Given the description of an element on the screen output the (x, y) to click on. 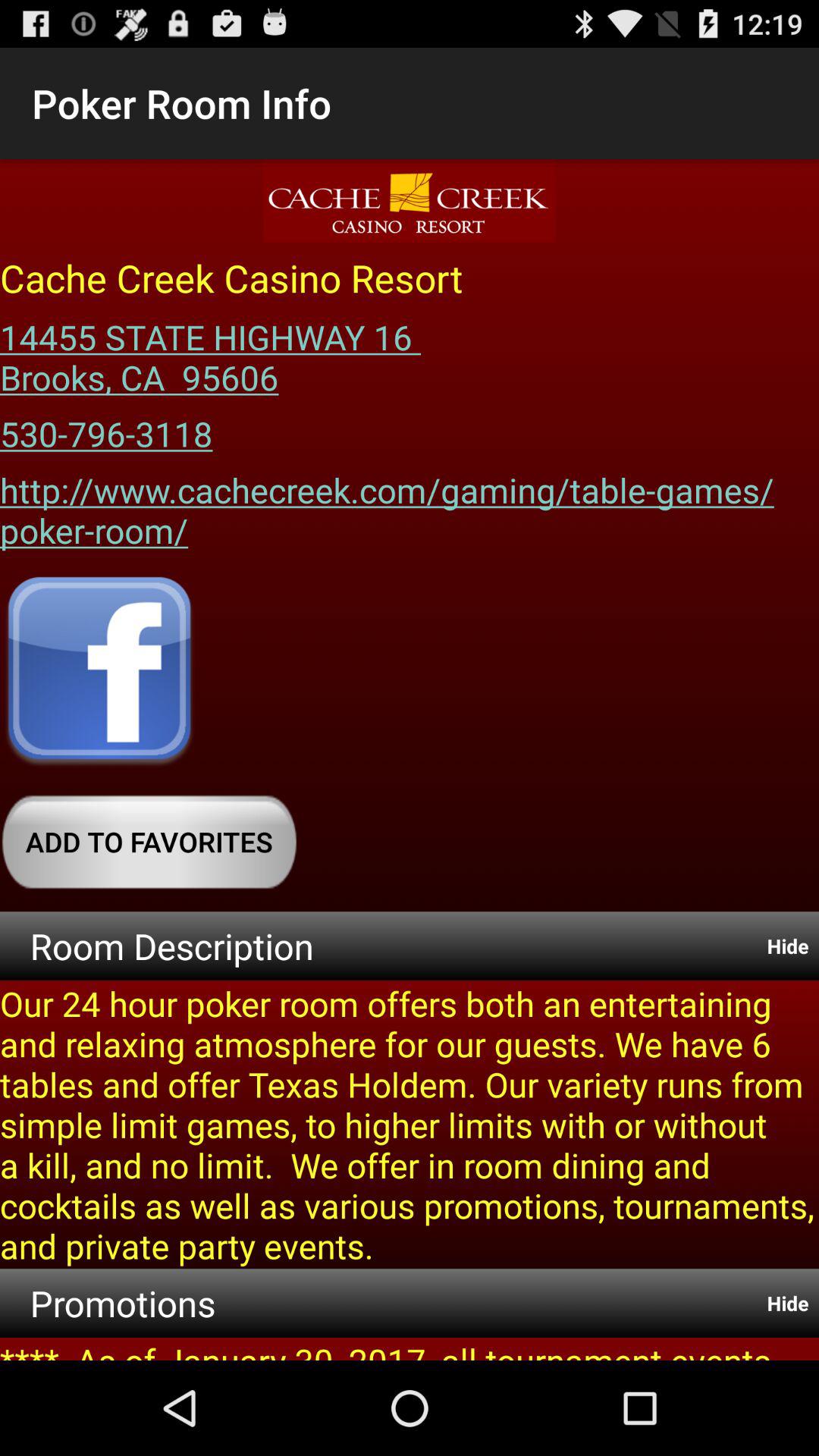
swipe until http www cachecreek icon (409, 504)
